Given the description of an element on the screen output the (x, y) to click on. 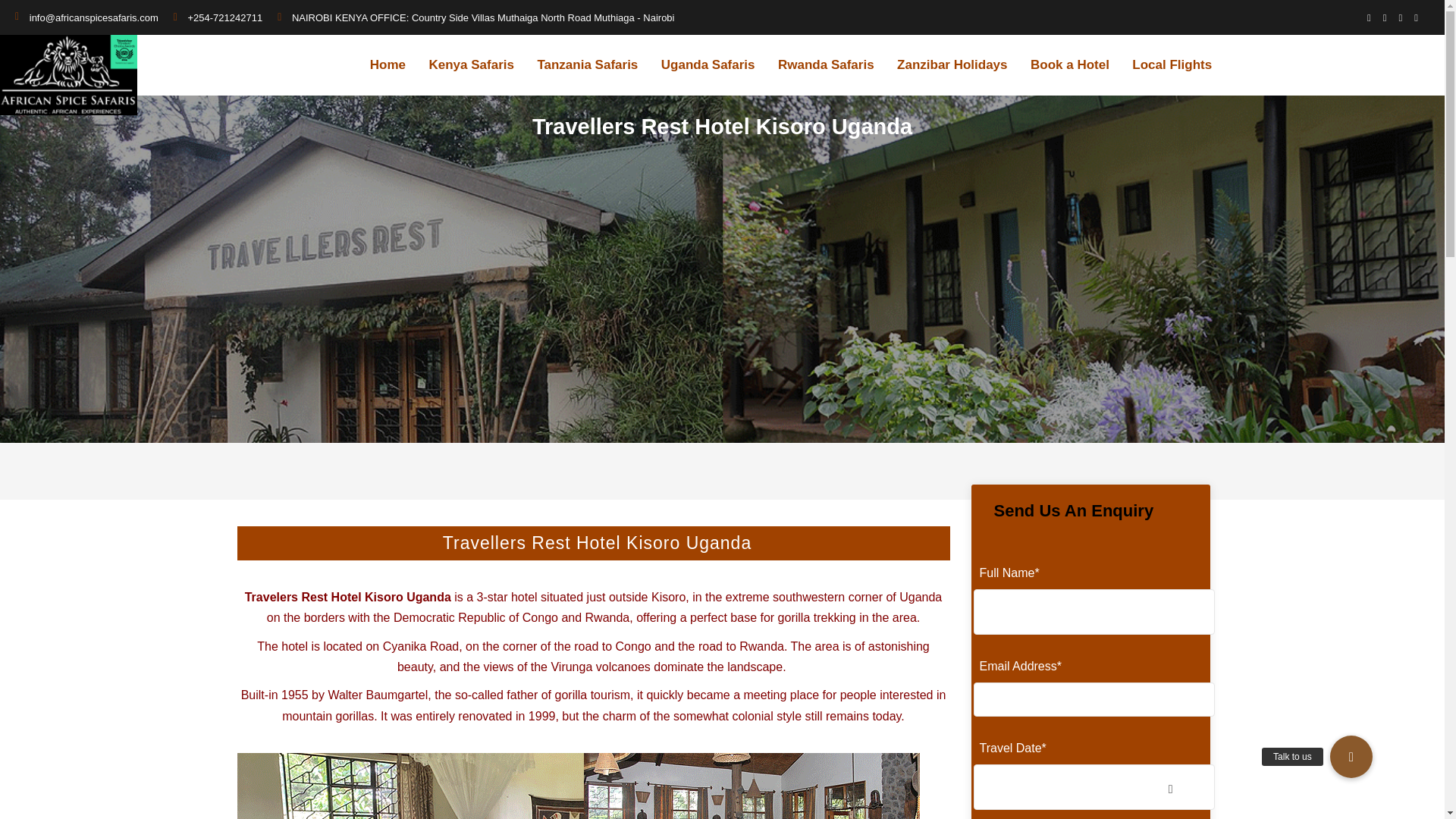
Uganda Safaris (708, 64)
Rwanda (607, 617)
Local Flights (1171, 64)
Zanzibar Holidays (951, 64)
Home (387, 64)
Rwanda Safaris (825, 64)
Tanzania Safaris (587, 64)
Book a Hotel (1069, 64)
Kenya Safaris (470, 64)
